Given the description of an element on the screen output the (x, y) to click on. 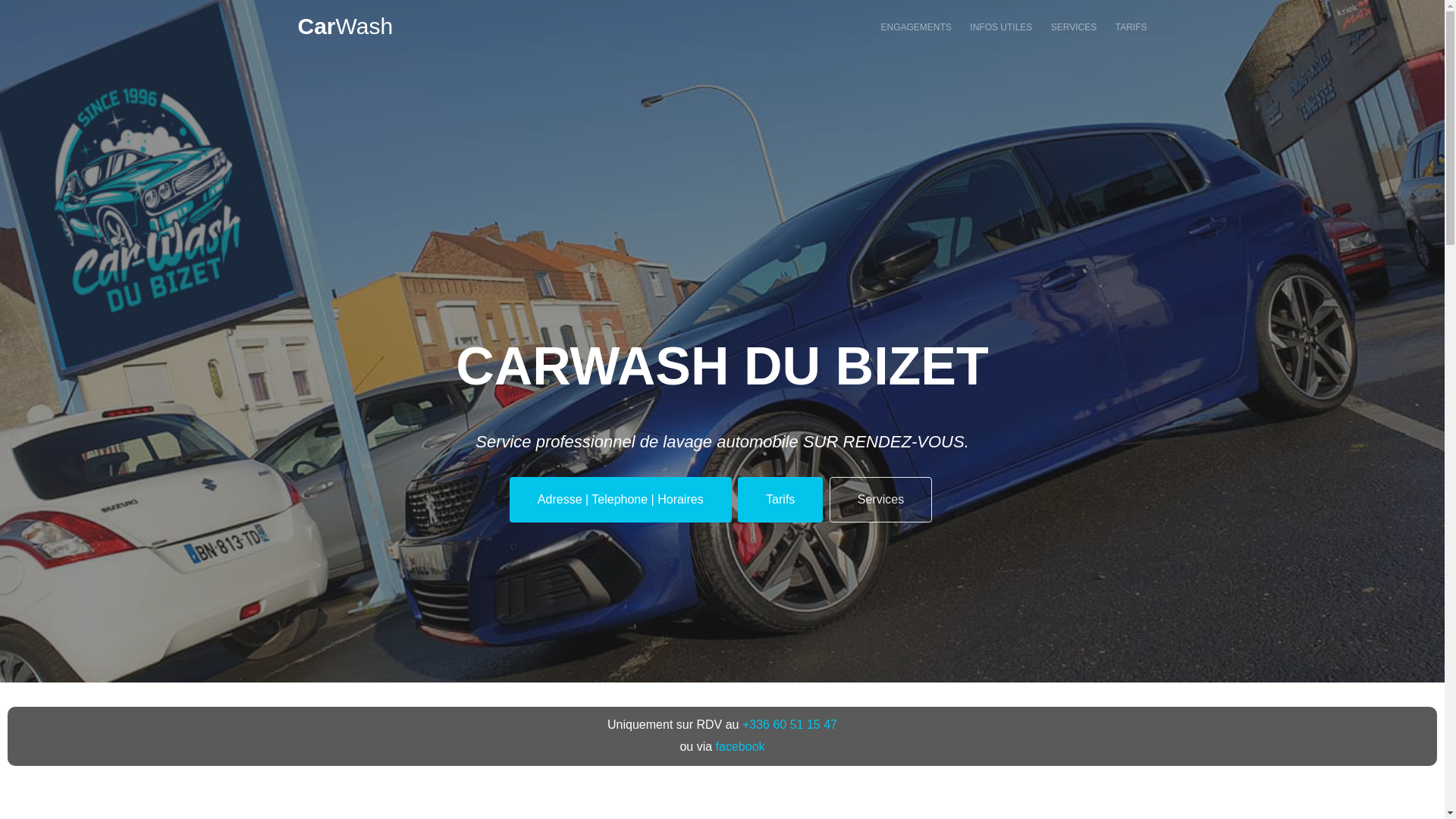
CarWash Element type: text (344, 25)
Services Element type: text (880, 498)
Adresse | Telephone | Horaires Element type: text (620, 498)
+336 60 51 15 47 Element type: text (789, 724)
Tarifs Element type: text (779, 498)
facebook Element type: text (740, 746)
